Given the description of an element on the screen output the (x, y) to click on. 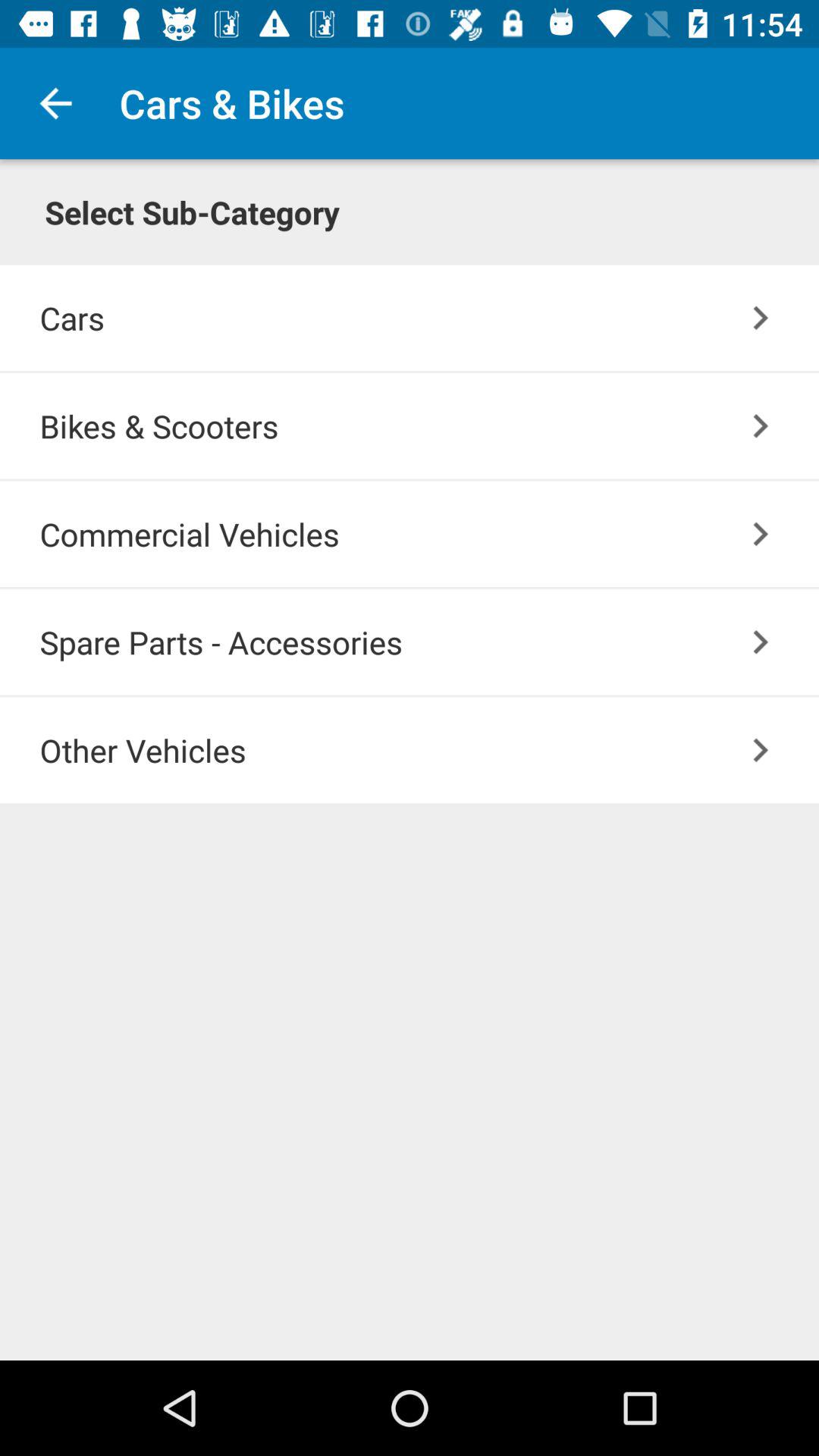
jump until commercial vehicles item (429, 533)
